Given the description of an element on the screen output the (x, y) to click on. 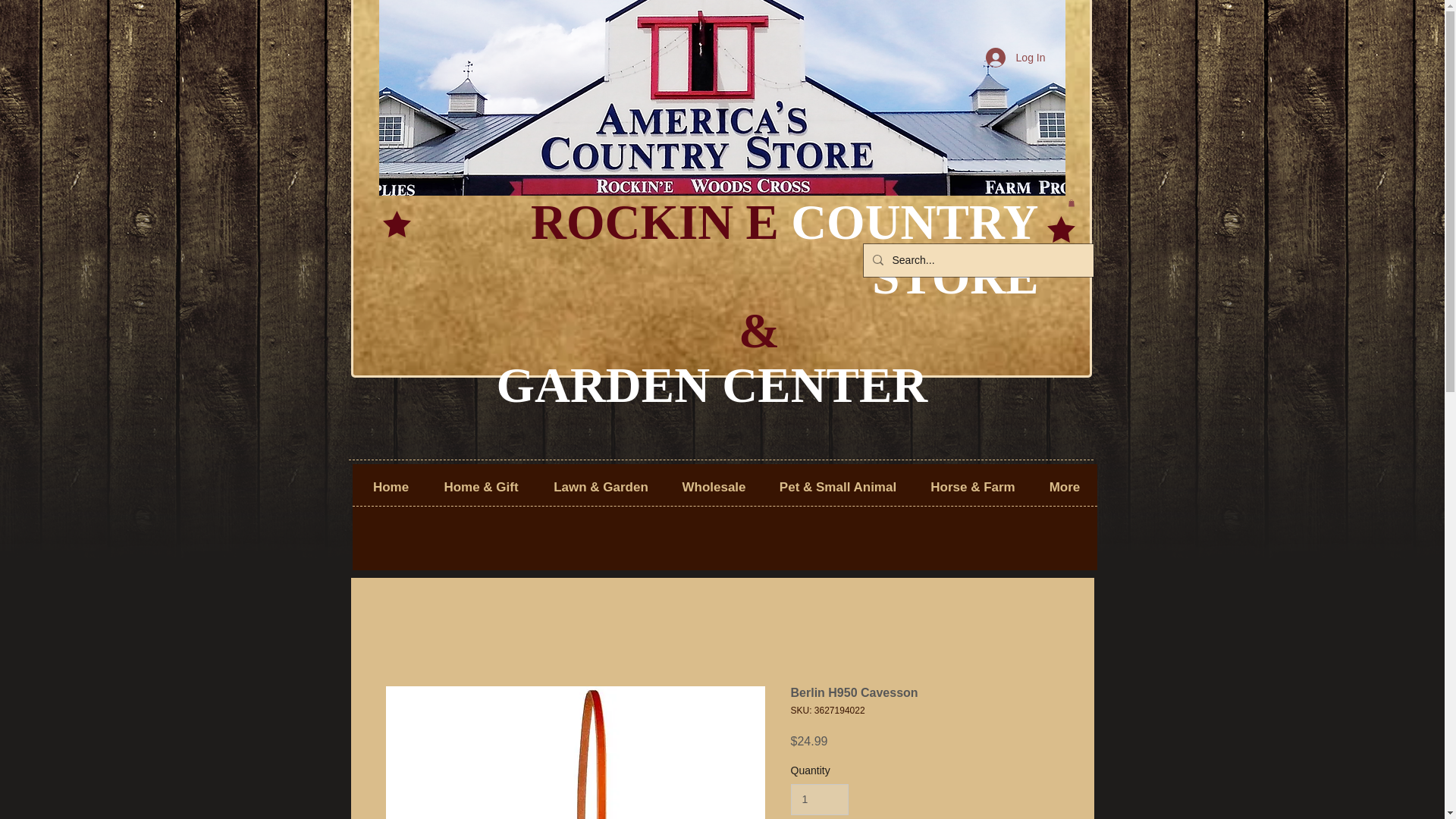
1 (818, 798)
Log In (1016, 57)
Wholesale (713, 487)
Home (391, 487)
